Given the description of an element on the screen output the (x, y) to click on. 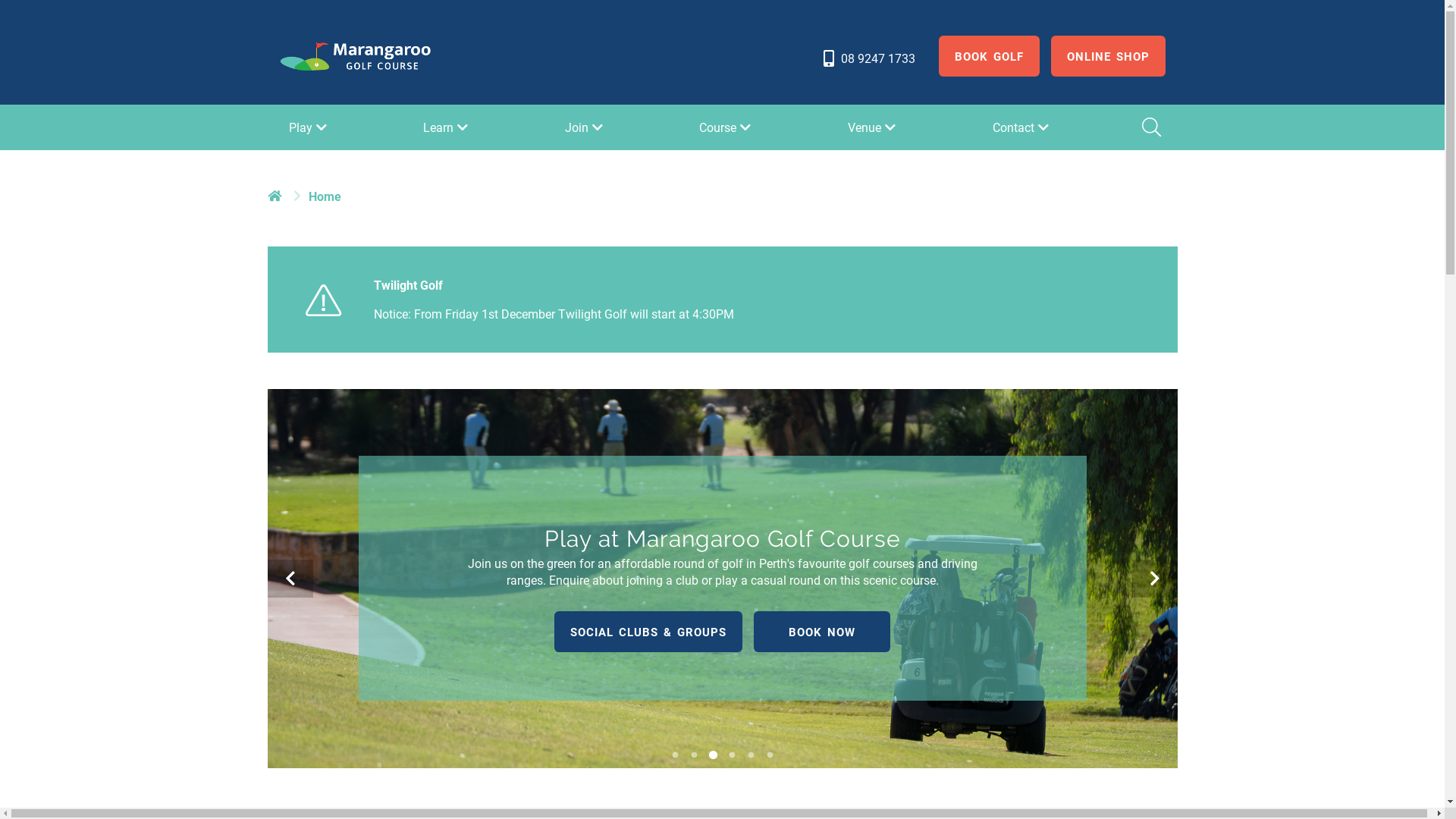
ONLINE SHOP Element type: text (1108, 55)
BOOK NOW Element type: text (821, 631)
  Element type: text (275, 195)
08 9247 1733 Element type: text (867, 58)
Learn Element type: text (447, 127)
SOCIAL CLUBS & GROUPS Element type: text (648, 631)
Venue Element type: text (873, 127)
Next Element type: text (1153, 578)
Join Element type: text (585, 127)
Contact Element type: text (1022, 127)
BOOK GOLF Element type: text (988, 55)
Course Element type: text (726, 127)
Search Element type: text (1150, 127)
Play Element type: text (308, 127)
Prev Element type: text (289, 578)
